Given the description of an element on the screen output the (x, y) to click on. 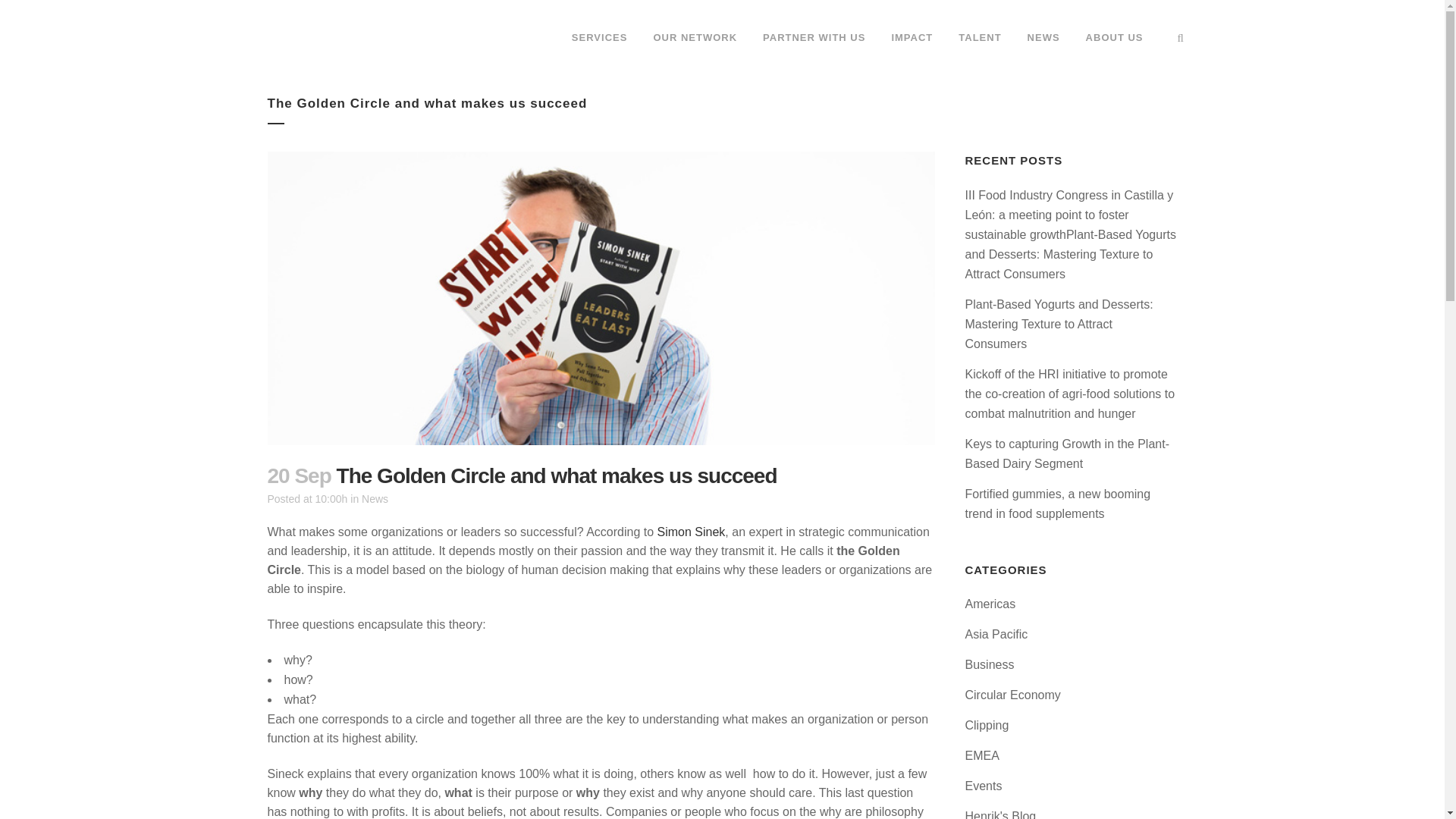
IMPACT (910, 38)
TALENT (978, 38)
Simon Sinek (691, 531)
News (374, 499)
PARTNER WITH US (813, 38)
SERVICES (599, 38)
OUR NETWORK (694, 38)
ABOUT US (1114, 38)
